Given the description of an element on the screen output the (x, y) to click on. 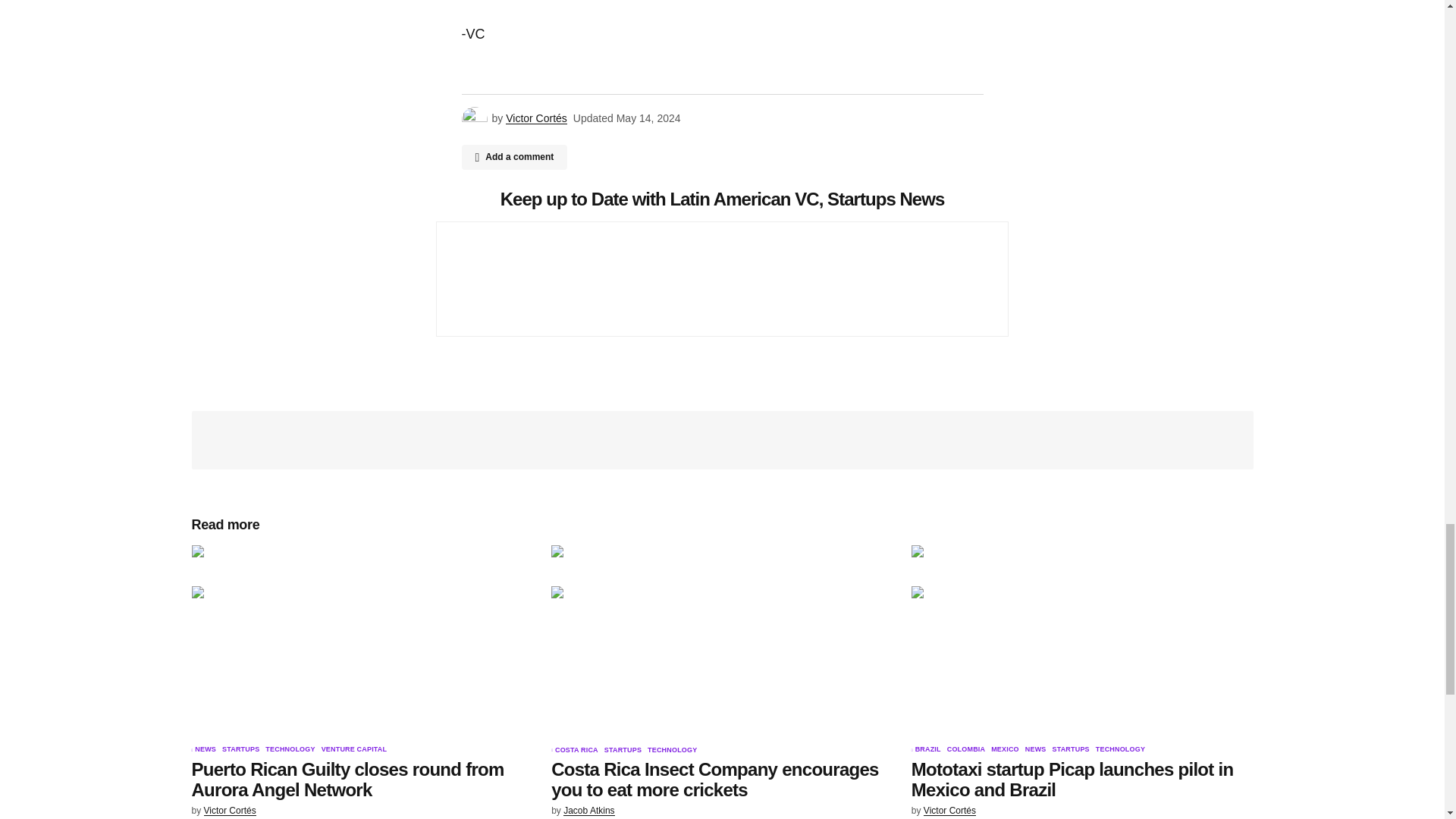
Mototaxi startup Picap launches pilot in Mexico and Brazil (1082, 641)
Puerto Rican Guilty closes round from Aurora Angel Network (361, 641)
